Given the description of an element on the screen output the (x, y) to click on. 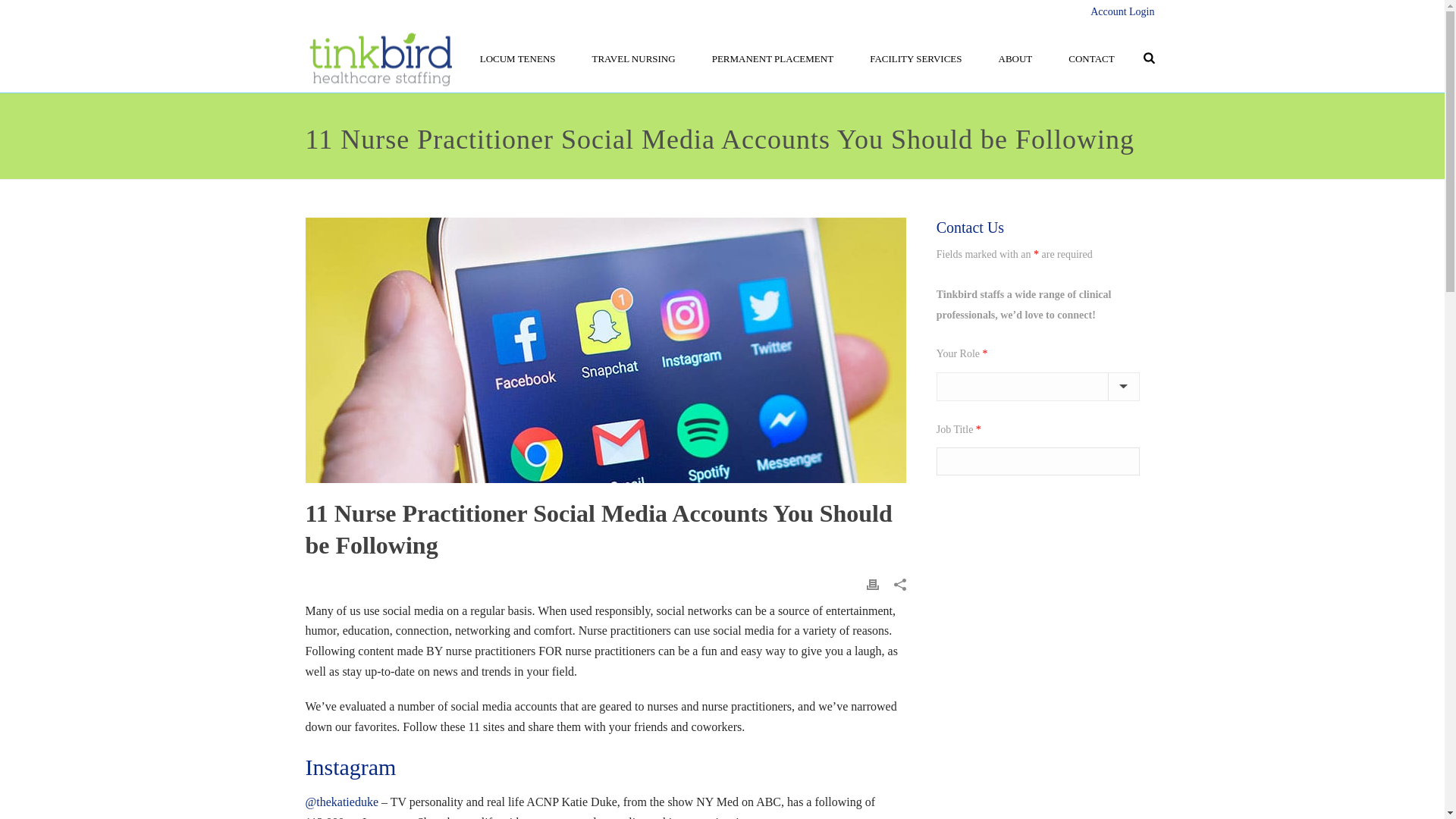
Account Login (1122, 11)
Print (872, 583)
LOCUM TENENS (517, 57)
FACILITY SERVICES (915, 57)
CONTACT (1091, 57)
FACILITY SERVICES (915, 57)
LOCUM TENENS (517, 57)
ABOUT (1015, 57)
PERMANENT PLACEMENT (772, 57)
PERMANENT PLACEMENT (772, 57)
TRAVEL NURSING (633, 57)
CONTACT (1091, 57)
TRAVEL NURSING (633, 57)
ABOUT (1015, 57)
